Given the description of an element on the screen output the (x, y) to click on. 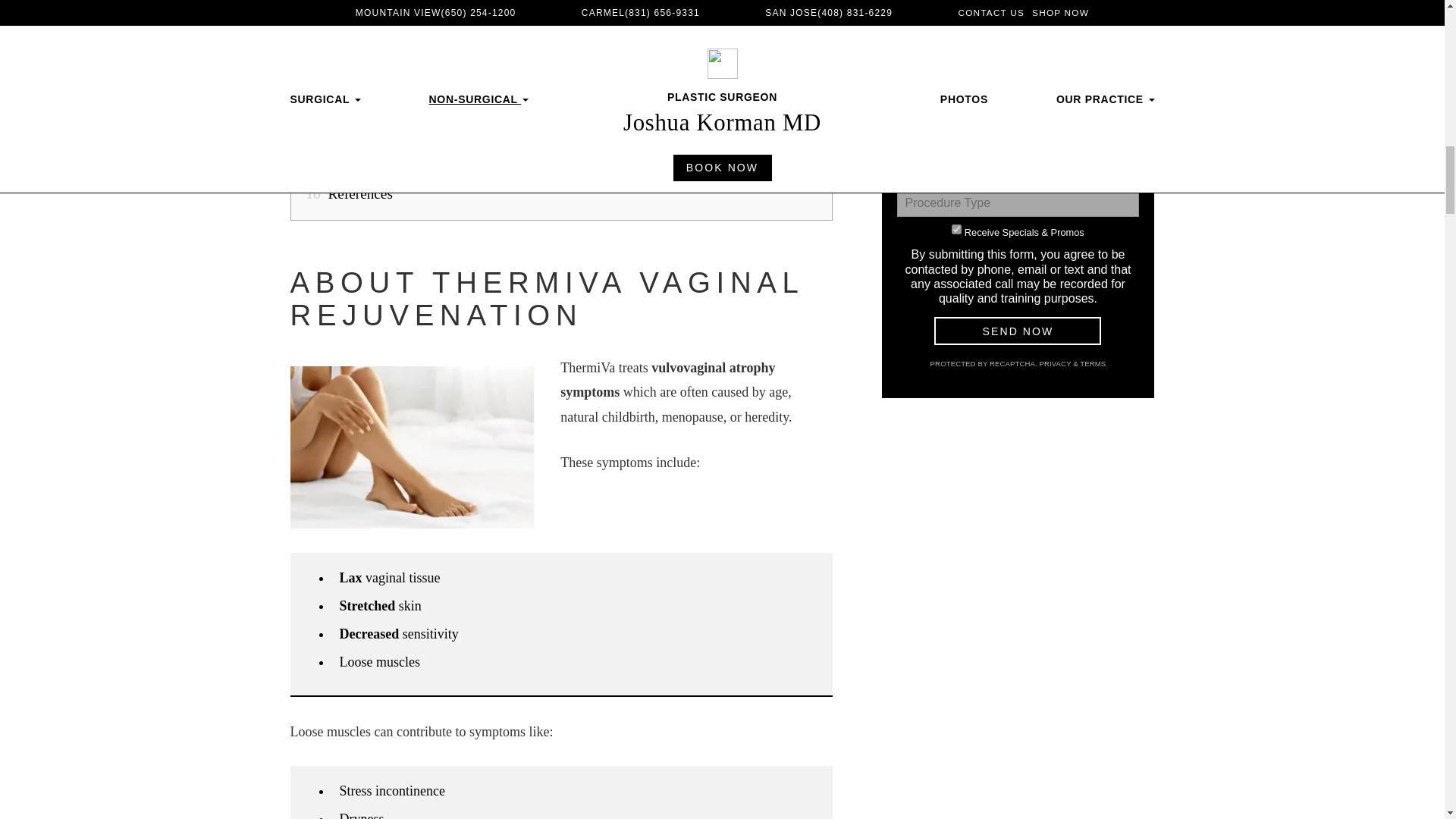
Send Now (1017, 330)
